Given the description of an element on the screen output the (x, y) to click on. 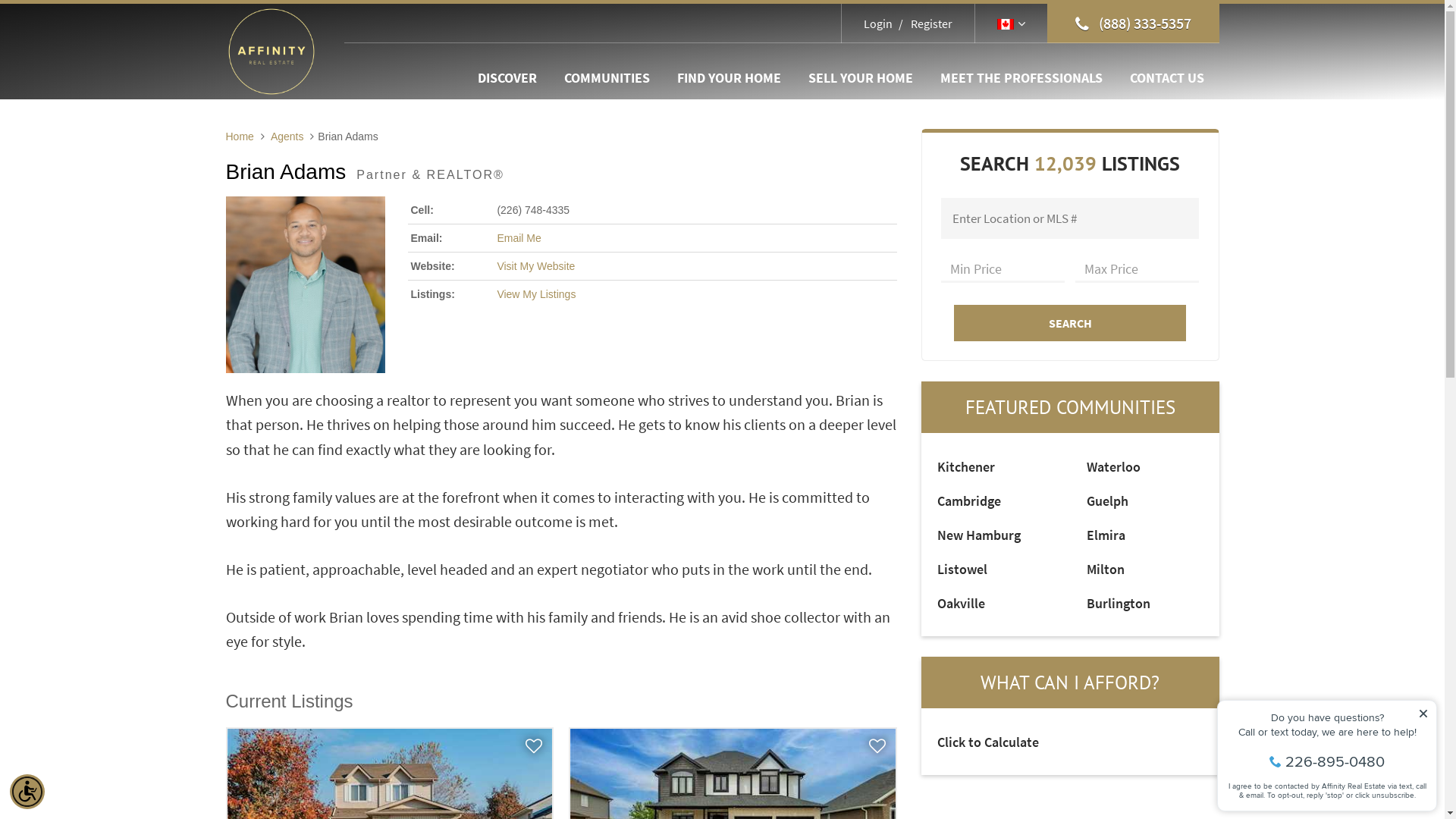
FIND YOUR HOME Element type: text (728, 77)
(226) 748-4335 Element type: text (532, 209)
Waterloo Element type: text (1113, 466)
Home Page Element type: hover (270, 49)
COMMUNITIES Element type: text (607, 77)
SEARCH Element type: text (1069, 322)
Home Element type: text (239, 136)
DISCOVER Element type: text (507, 77)
Elmira Element type: text (1105, 534)
Visit My Website Element type: text (535, 266)
Email Me Element type: text (518, 238)
CONTACT US Element type: text (1166, 77)
Cambridge Element type: text (969, 500)
Agents Element type: text (287, 136)
New Hamburg Element type: text (978, 534)
(888) 333-5357 Element type: text (1132, 23)
Click to Calculate Element type: text (987, 741)
Select Language Element type: hover (1011, 23)
Listowel Element type: text (962, 568)
SELL YOUR HOME Element type: text (860, 77)
Register Element type: text (923, 23)
MEET THE PROFESSIONALS Element type: text (1021, 77)
Kitchener Element type: text (965, 466)
Current Listings Element type: text (289, 701)
View My Listings Element type: text (535, 294)
Guelph Element type: text (1107, 500)
Login Element type: text (877, 23)
Burlington Element type: text (1118, 602)
Oakville Element type: text (961, 602)
Milton Element type: text (1105, 568)
